Given the description of an element on the screen output the (x, y) to click on. 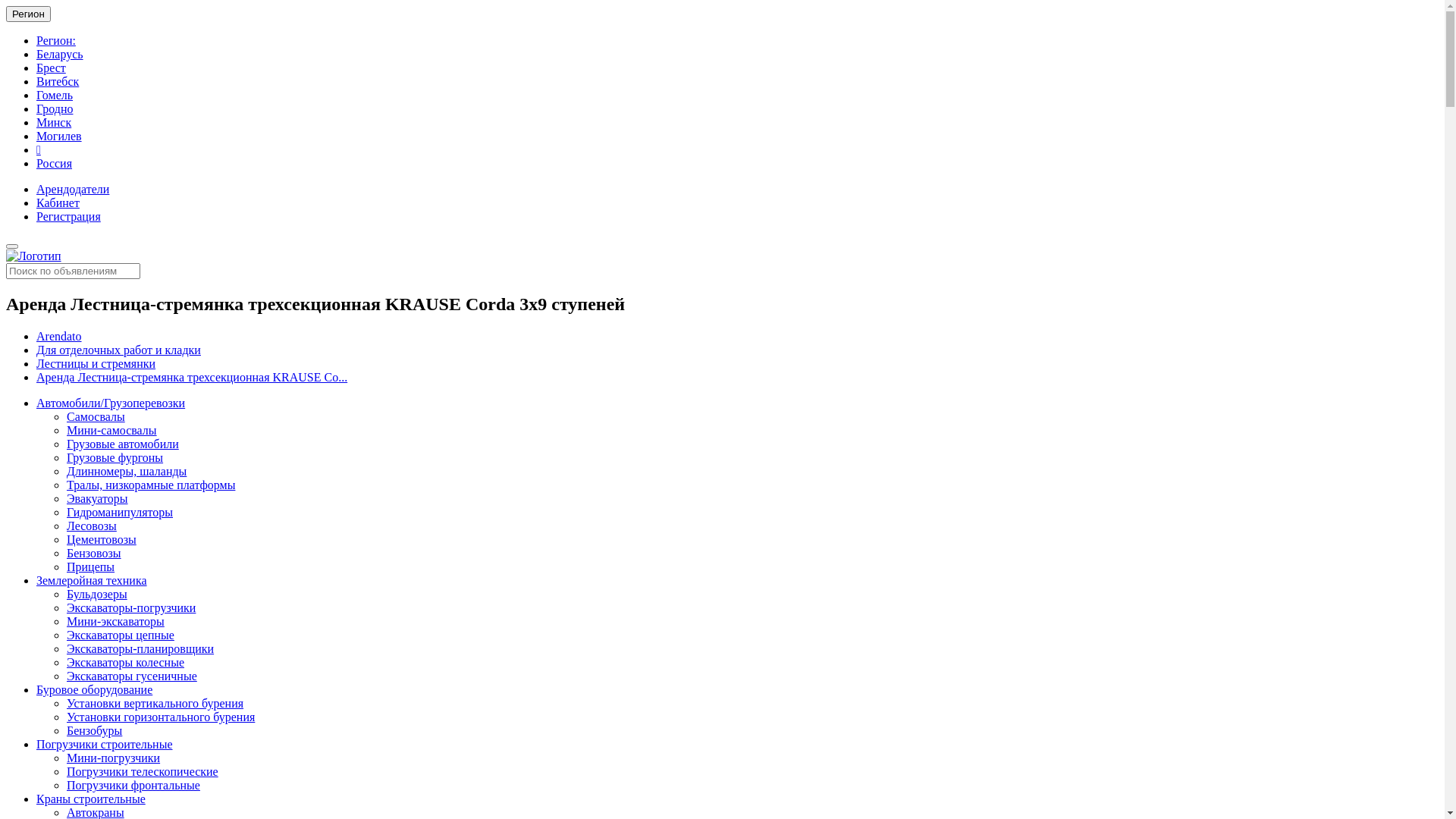
Arendato Element type: text (58, 335)
arendato.by Element type: hover (33, 255)
